Given the description of an element on the screen output the (x, y) to click on. 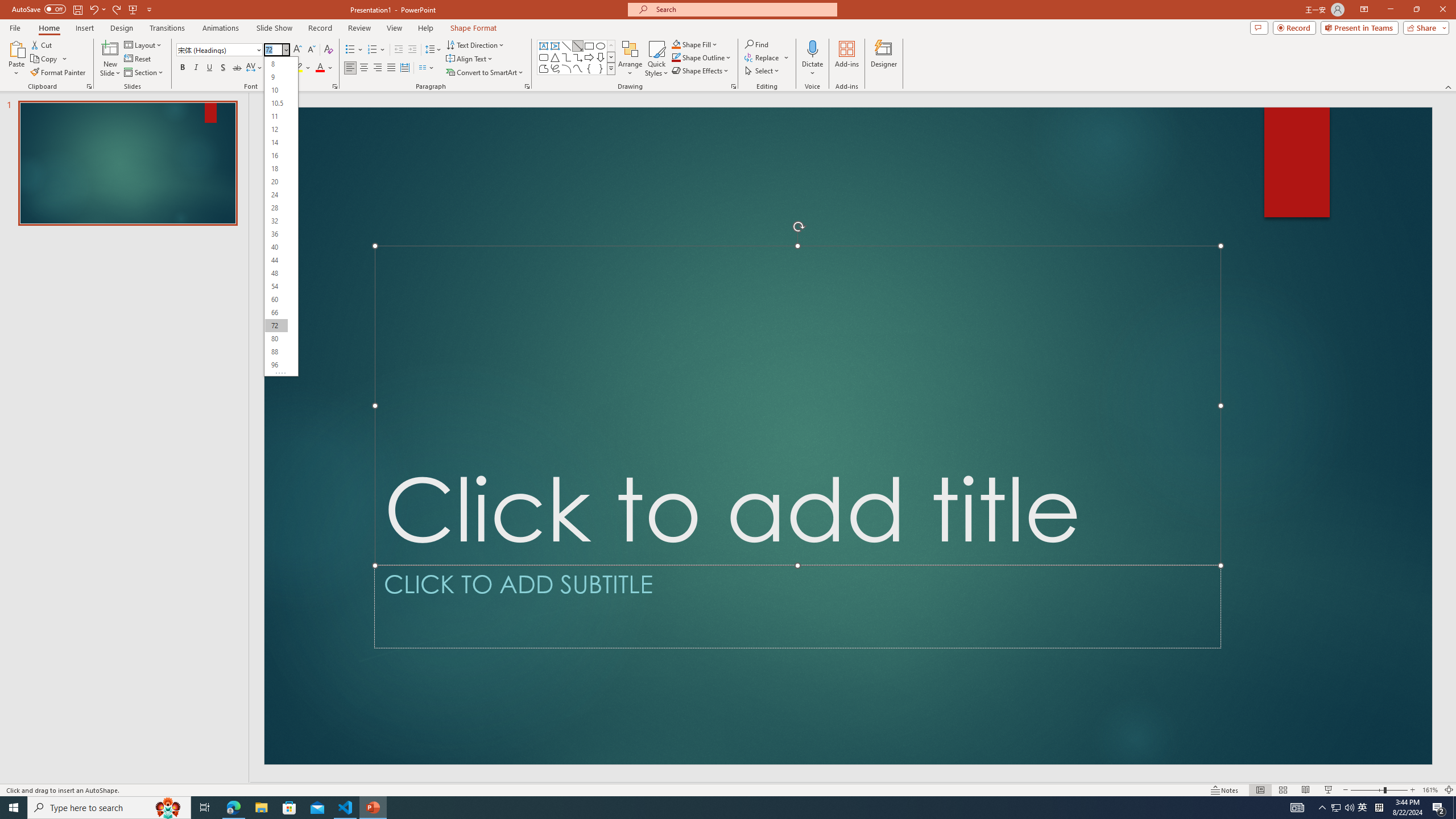
12 (276, 128)
66 (276, 312)
24 (276, 194)
